Given the description of an element on the screen output the (x, y) to click on. 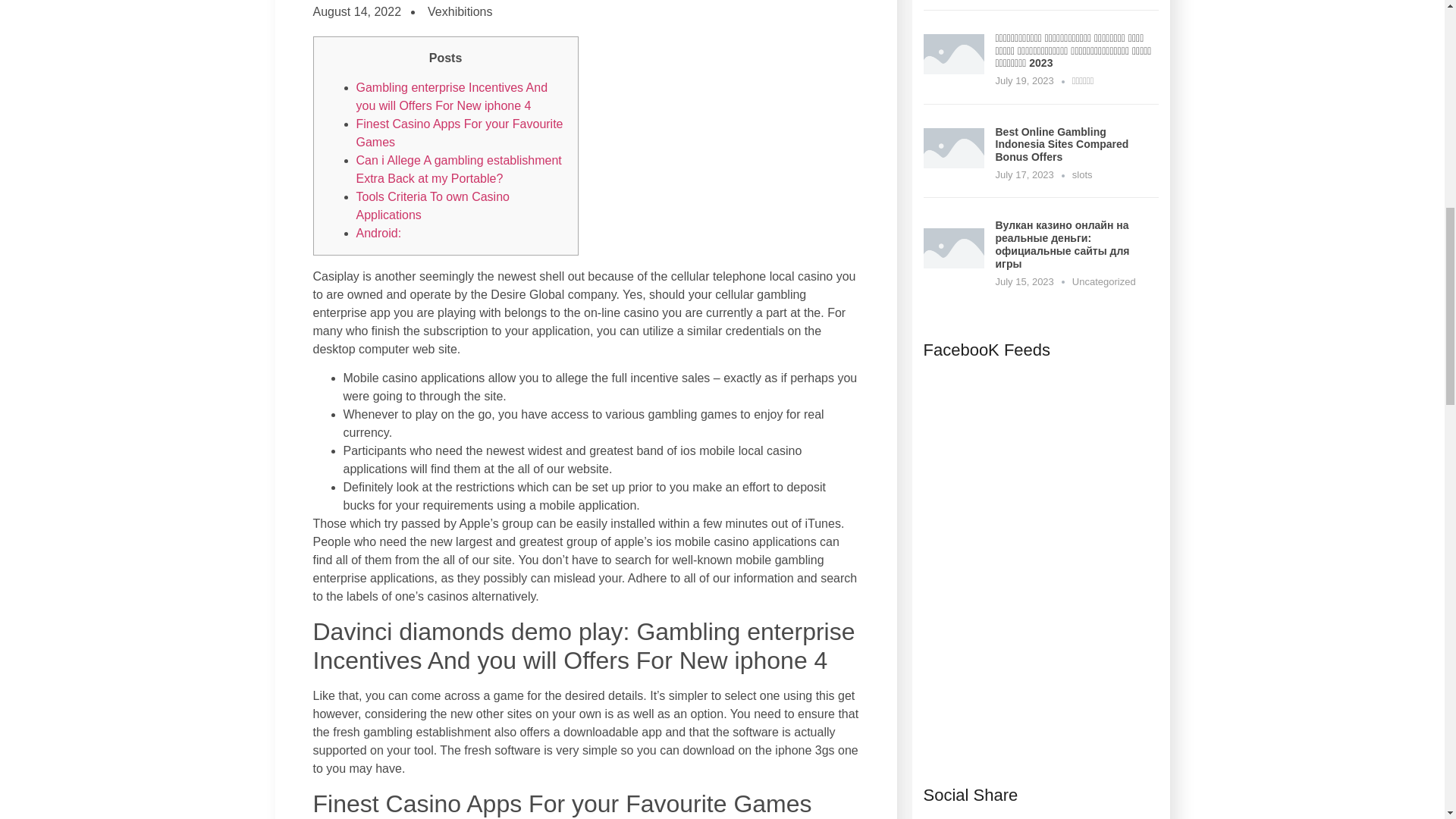
August 14, 2022 (357, 12)
Best Online Gambling Indonesia Sites Compared Bonus Offers (1061, 144)
Tools Criteria To own Casino Applications (432, 205)
Vexhibitions (457, 12)
Finest Casino Apps For your Favourite Games (459, 132)
Best Online Gambling Indonesia Sites Compared Bonus Offers (953, 164)
Android: (378, 232)
